Given the description of an element on the screen output the (x, y) to click on. 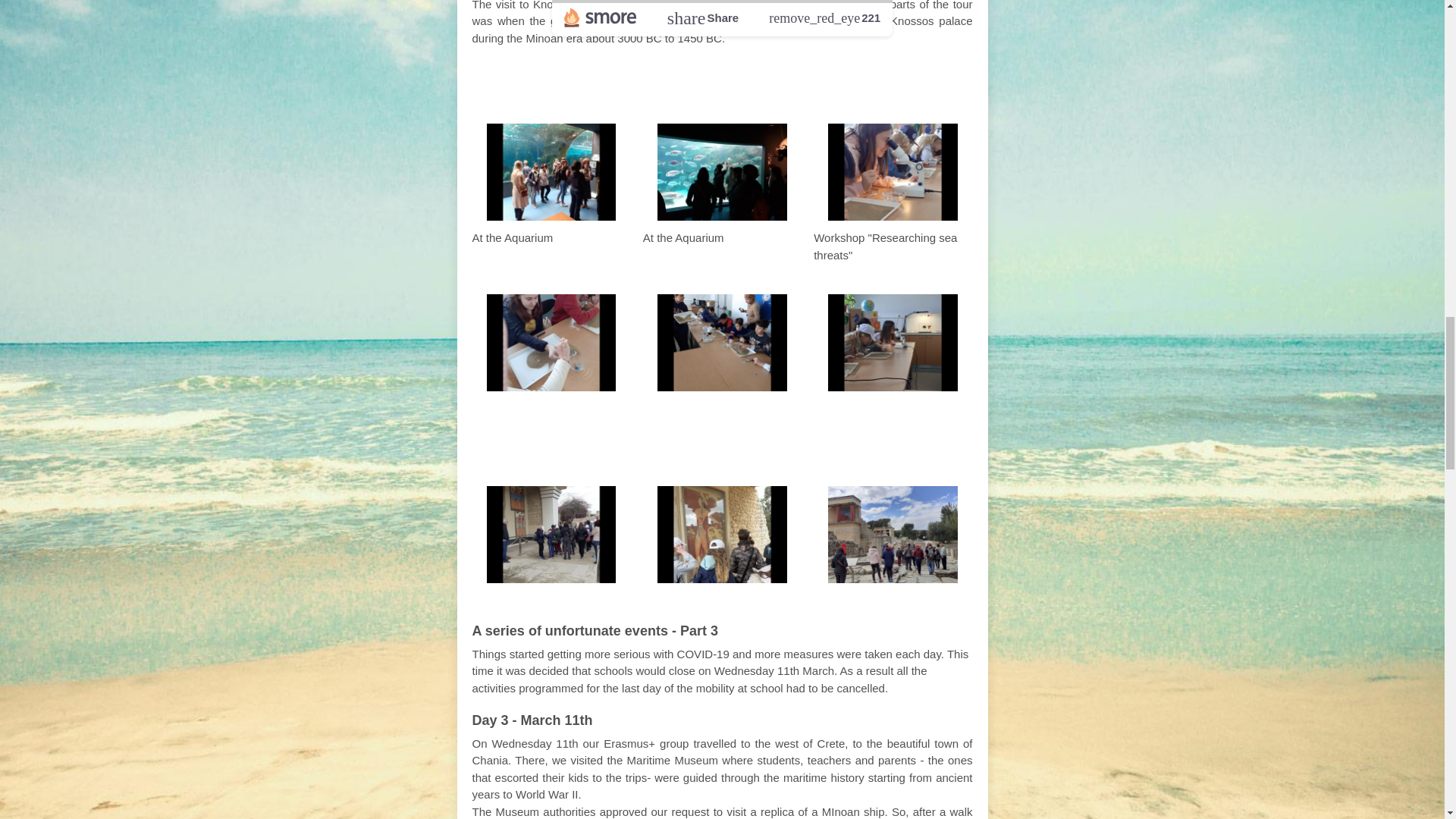
archaeological (682, 442)
of (809, 442)
Knossos (863, 442)
and (725, 80)
Aquarium (649, 80)
Workshop (798, 80)
At (554, 442)
the (587, 442)
site (777, 442)
